Given the description of an element on the screen output the (x, y) to click on. 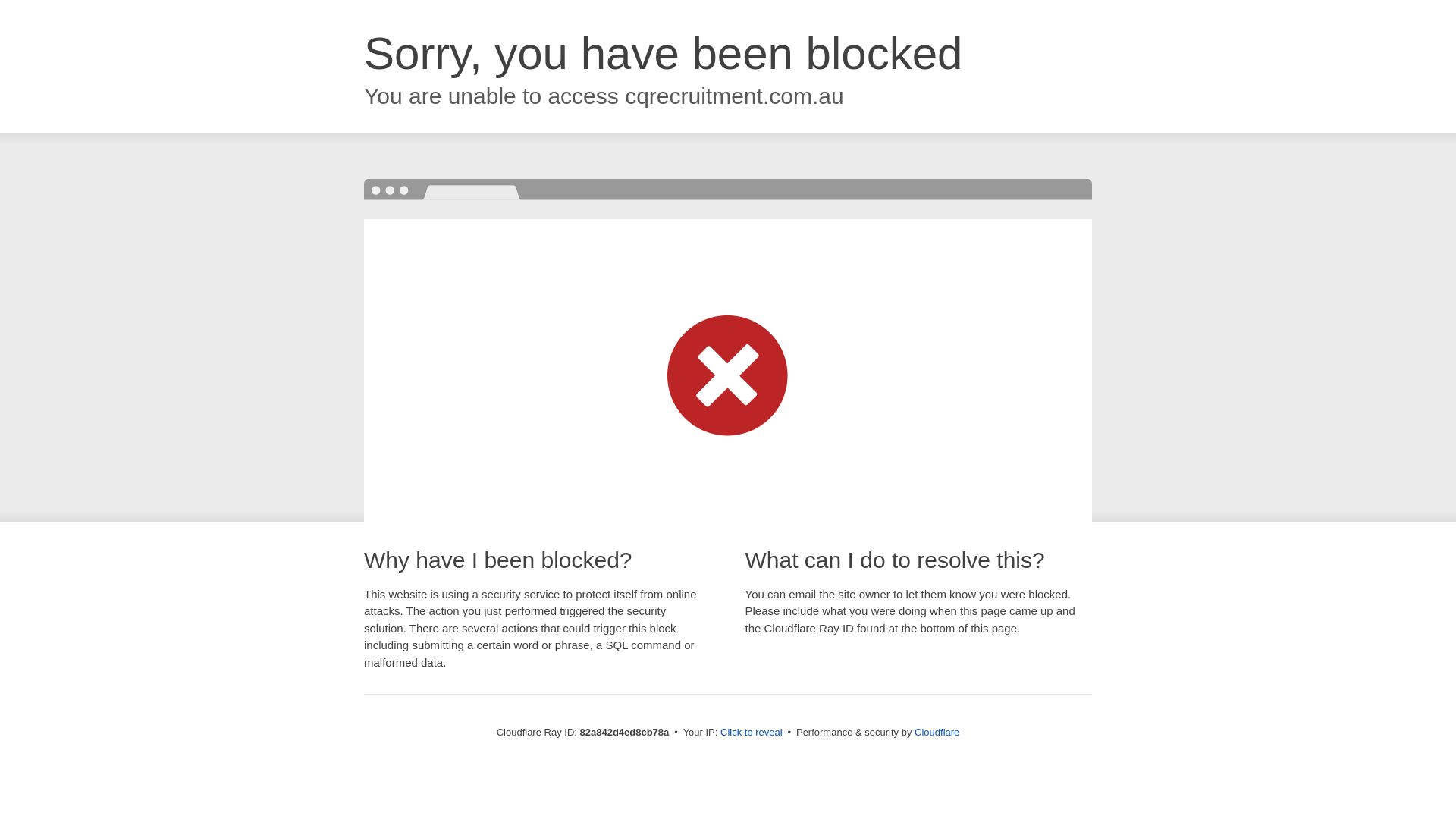
Click to reveal Element type: text (751, 732)
Cloudflare Element type: text (936, 731)
